Given the description of an element on the screen output the (x, y) to click on. 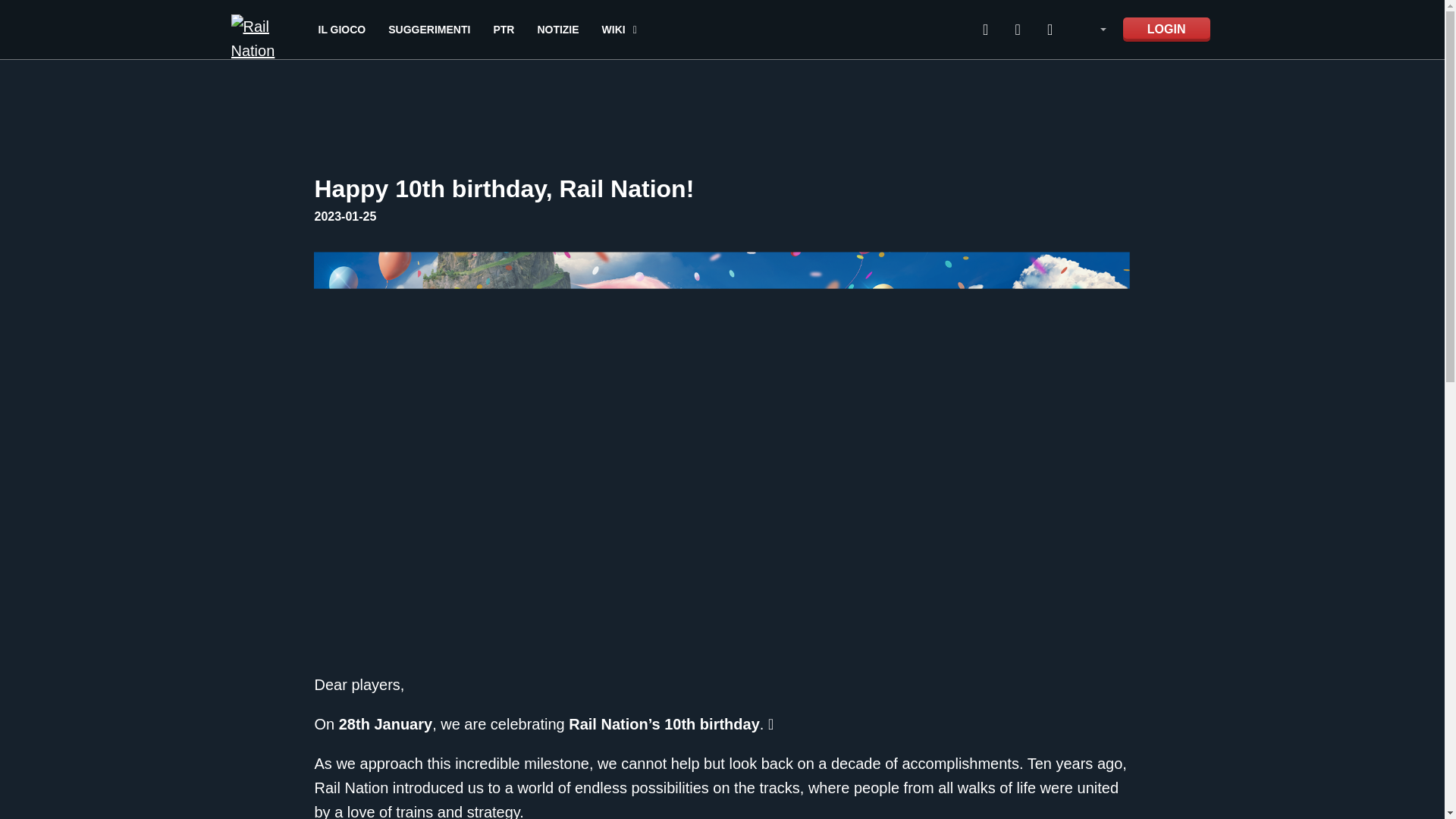
IL GIOCO (342, 29)
Facebook (1050, 29)
LOGIN (1165, 29)
Discord (985, 29)
YouTube (1017, 29)
NOTIZIE (557, 29)
SUGGERIMENTI (429, 29)
Login (1165, 29)
